Given the description of an element on the screen output the (x, y) to click on. 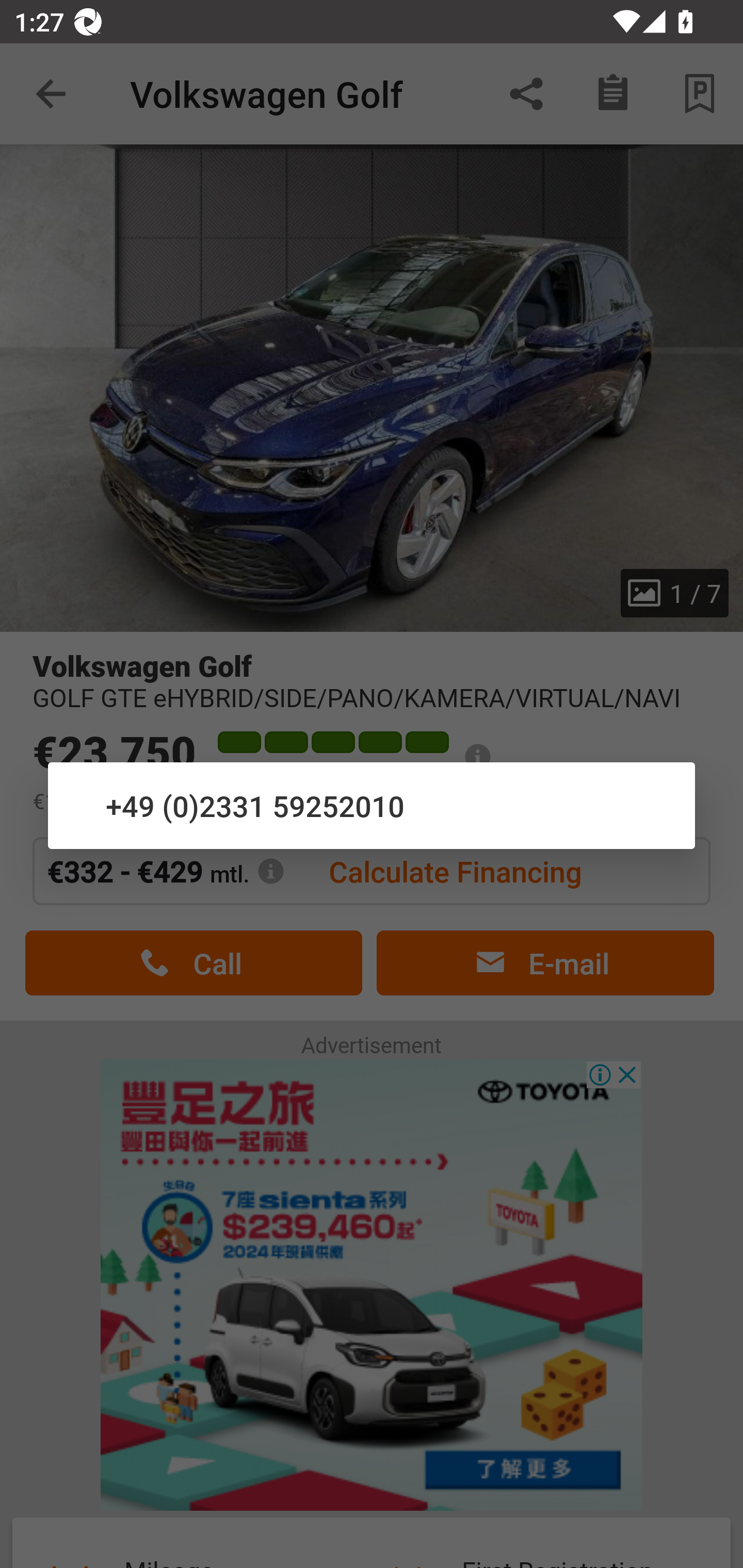
+49 (0)2331 59252010 (371, 805)
